Given the description of an element on the screen output the (x, y) to click on. 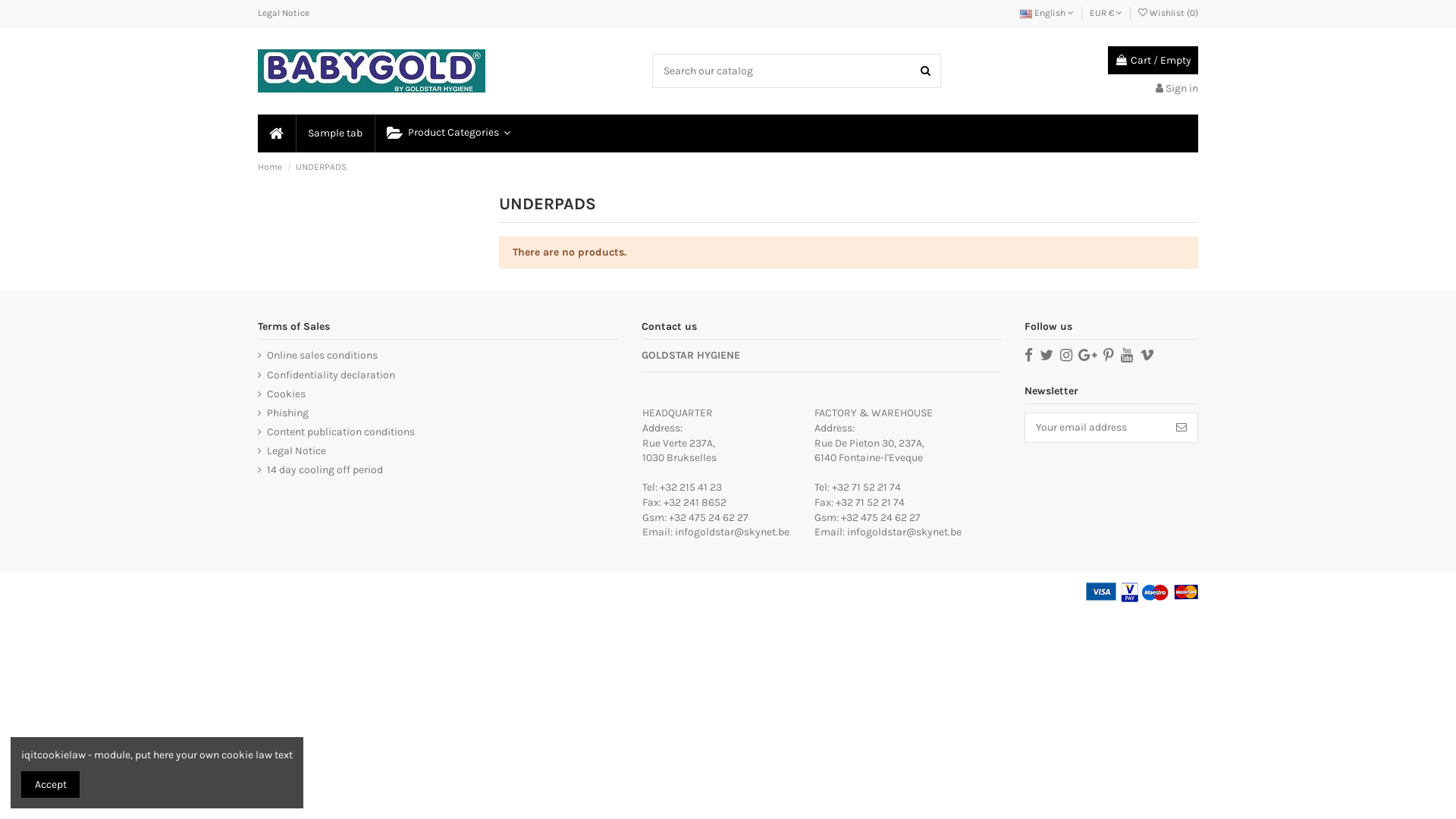
Wishlist (0) Element type: text (1168, 12)
Legal Notice Element type: text (291, 450)
Phishing Element type: text (282, 412)
Sign in Element type: text (1176, 87)
Legal Notice Element type: text (283, 12)
Cart / Empty Element type: text (1152, 60)
Product Categories Element type: text (447, 133)
Cookies Element type: text (281, 393)
Sample tab Element type: text (333, 133)
Online sales conditions Element type: text (317, 355)
Content publication conditions Element type: text (335, 431)
Accept Element type: text (50, 784)
English Element type: text (1046, 12)
Confidentiality declaration Element type: text (326, 374)
14 day cooling off period Element type: text (319, 469)
Home Element type: text (270, 166)
